Given the description of an element on the screen output the (x, y) to click on. 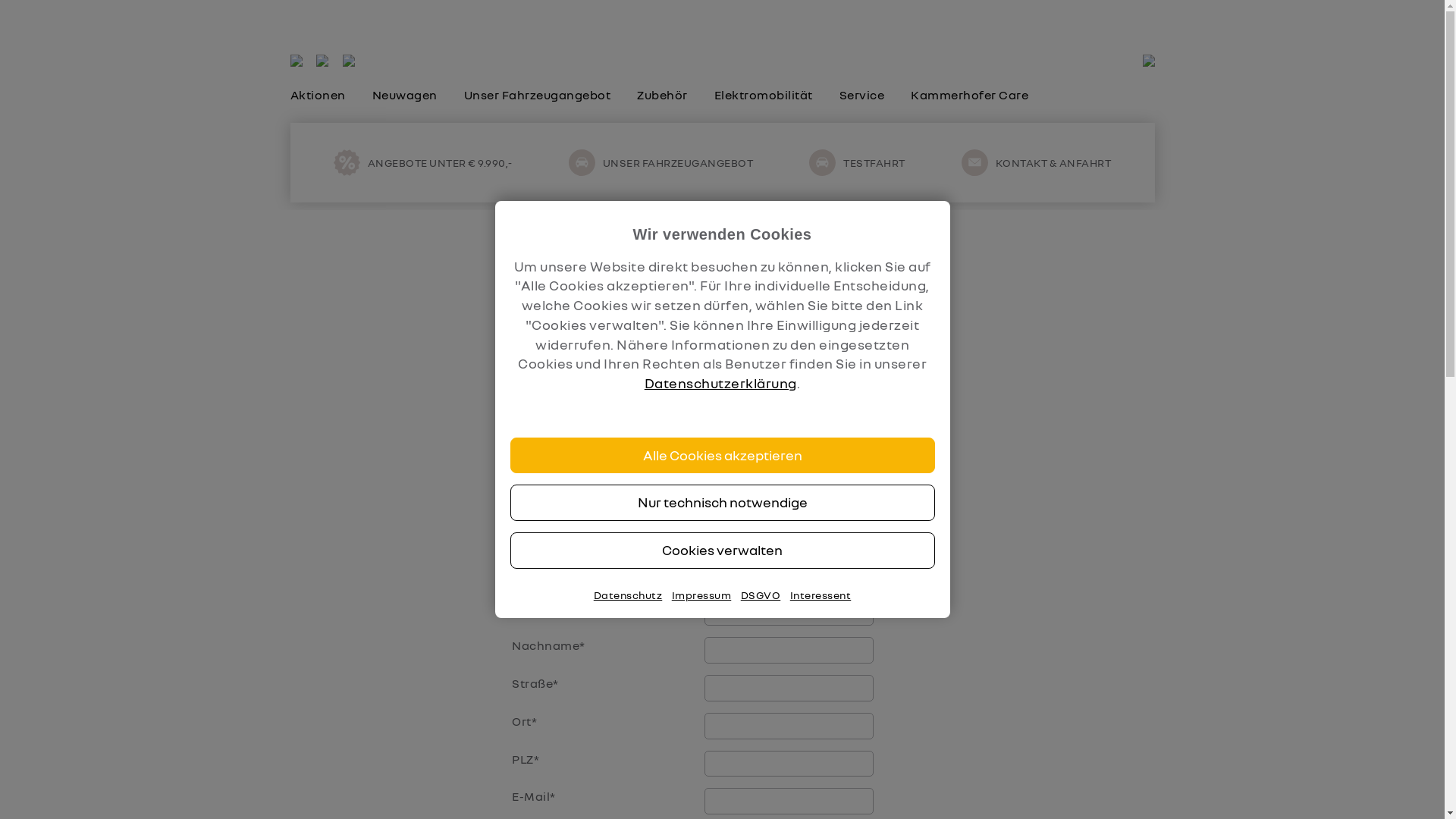
DSGVO Element type: text (760, 594)
TESTFAHRT Element type: text (857, 162)
Neuwagen Element type: text (403, 94)
Service Element type: text (861, 94)
Kontakt Element type: text (821, 15)
Cookies verwalten Element type: text (721, 550)
Kammerhofer Care Element type: text (969, 94)
Alle Cookies akzeptieren Element type: text (721, 455)
Aktionen Element type: text (317, 94)
Nur technisch notwendige Element type: text (721, 502)
UNSER FAHRZEUGANGEBOT Element type: text (660, 162)
Datenschutz Element type: text (627, 594)
Unser Fahrzeugangebot Element type: text (537, 94)
Impressum Element type: text (701, 594)
Classic & Performance Element type: text (991, 15)
ONLINE SHOP Element type: text (1112, 15)
Interessent Element type: text (820, 594)
KONTAKT & ANFAHRT Element type: text (1036, 162)
